Given the description of an element on the screen output the (x, y) to click on. 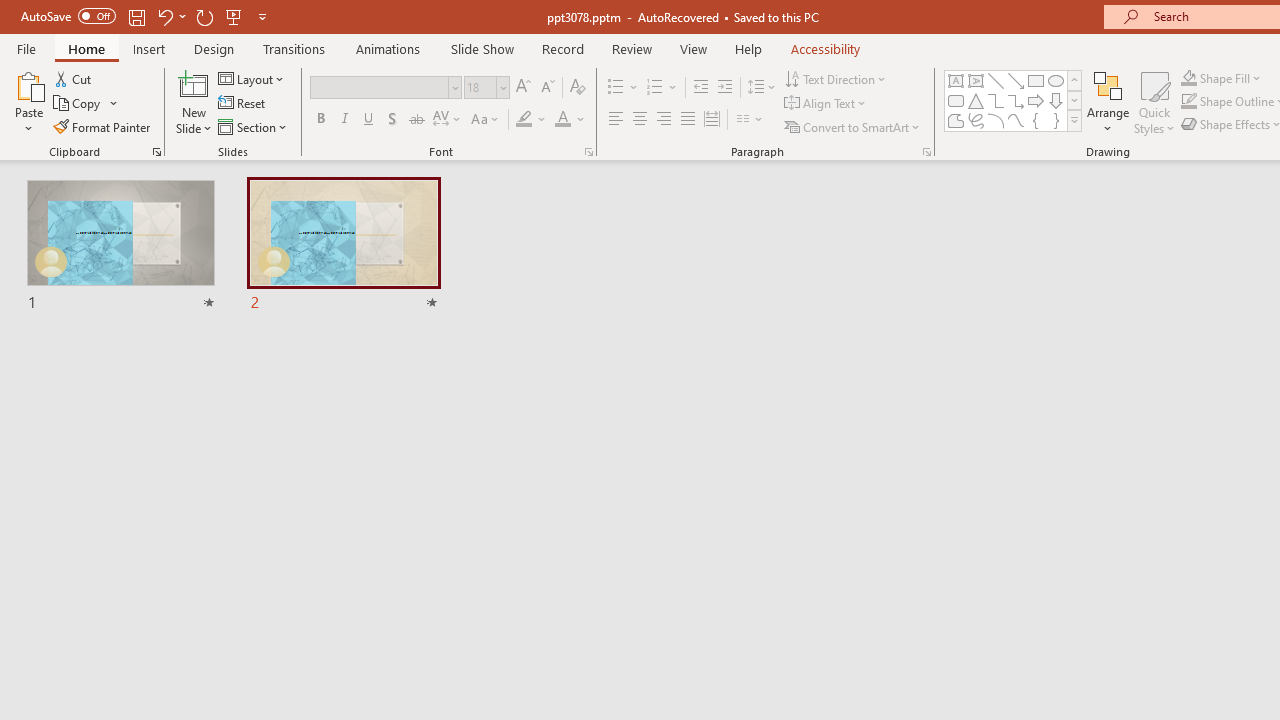
Increase Font Size (522, 87)
Paragraph... (926, 151)
Increase Indent (725, 87)
Help (748, 48)
Office Clipboard... (156, 151)
Change Case (486, 119)
Freeform: Scribble (975, 120)
Customize Quick Access Toolbar (262, 15)
Shadow (392, 119)
Paste (28, 102)
Font (385, 87)
From Beginning (234, 15)
Rectangle: Rounded Corners (955, 100)
Design (214, 48)
Convert to SmartArt (853, 126)
